Given the description of an element on the screen output the (x, y) to click on. 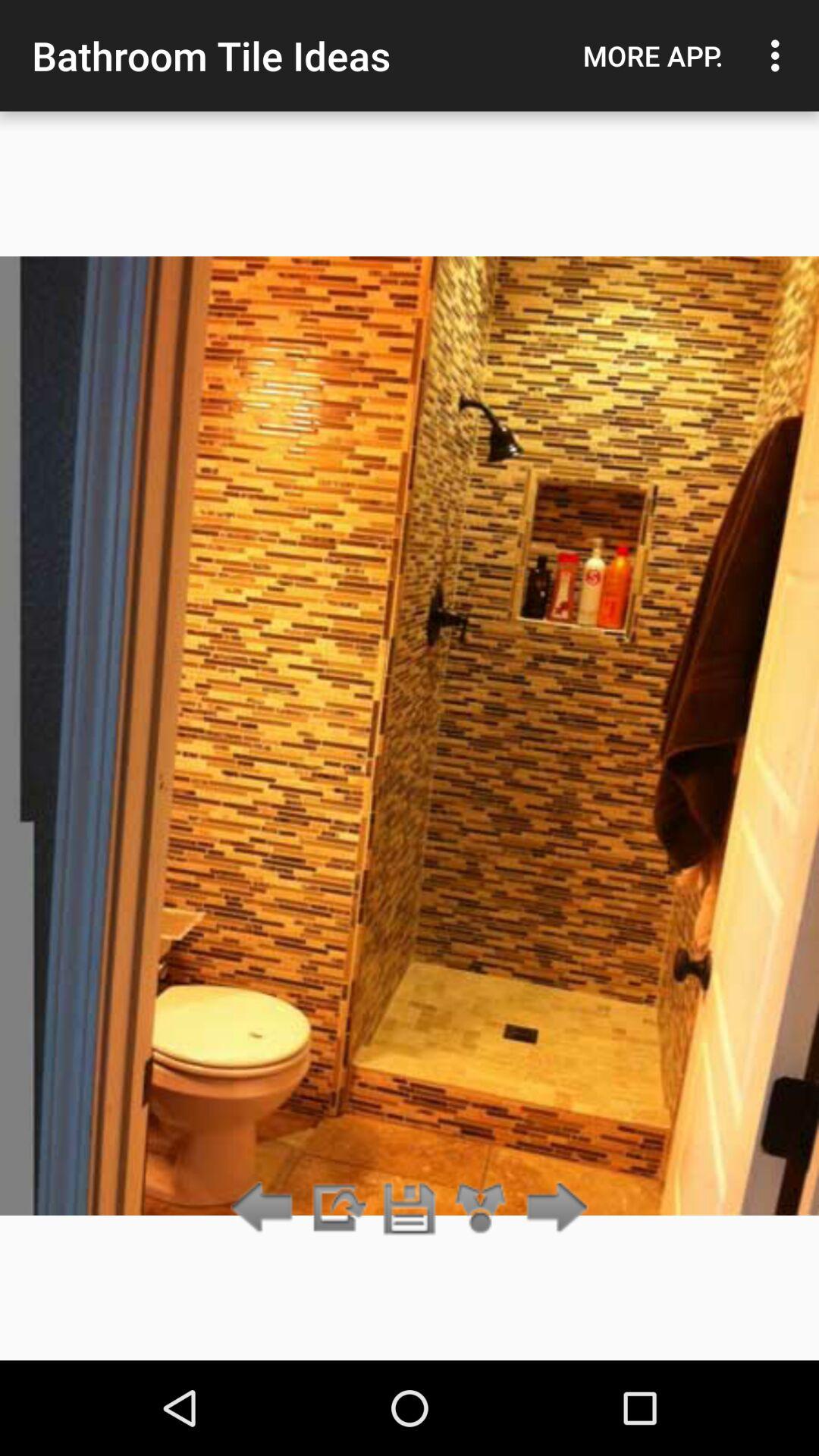
press icon to the right of the bathroom tile ideas app (653, 55)
